Given the description of an element on the screen output the (x, y) to click on. 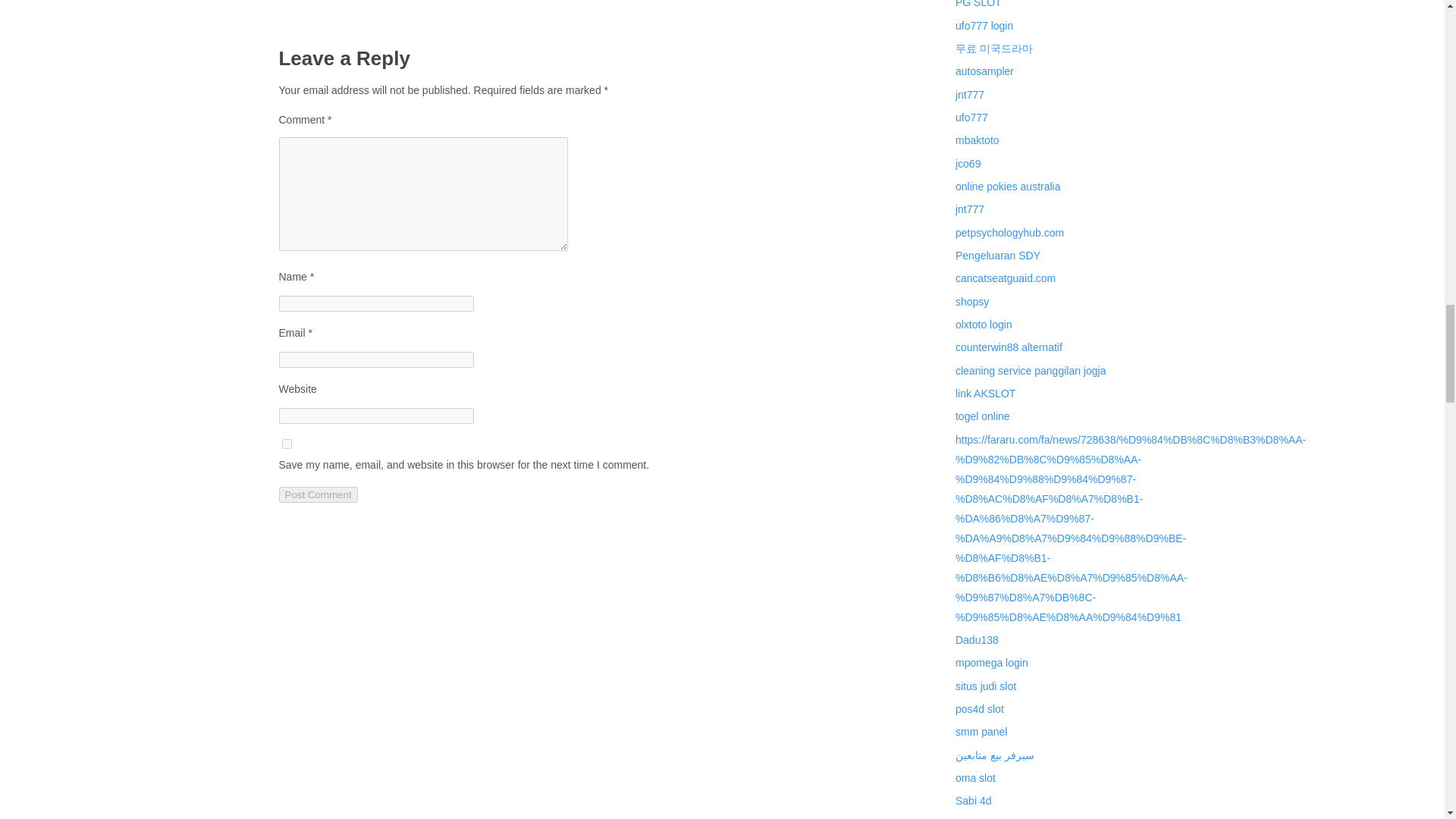
Post Comment (318, 494)
yes (287, 443)
Post Comment (318, 494)
